Given the description of an element on the screen output the (x, y) to click on. 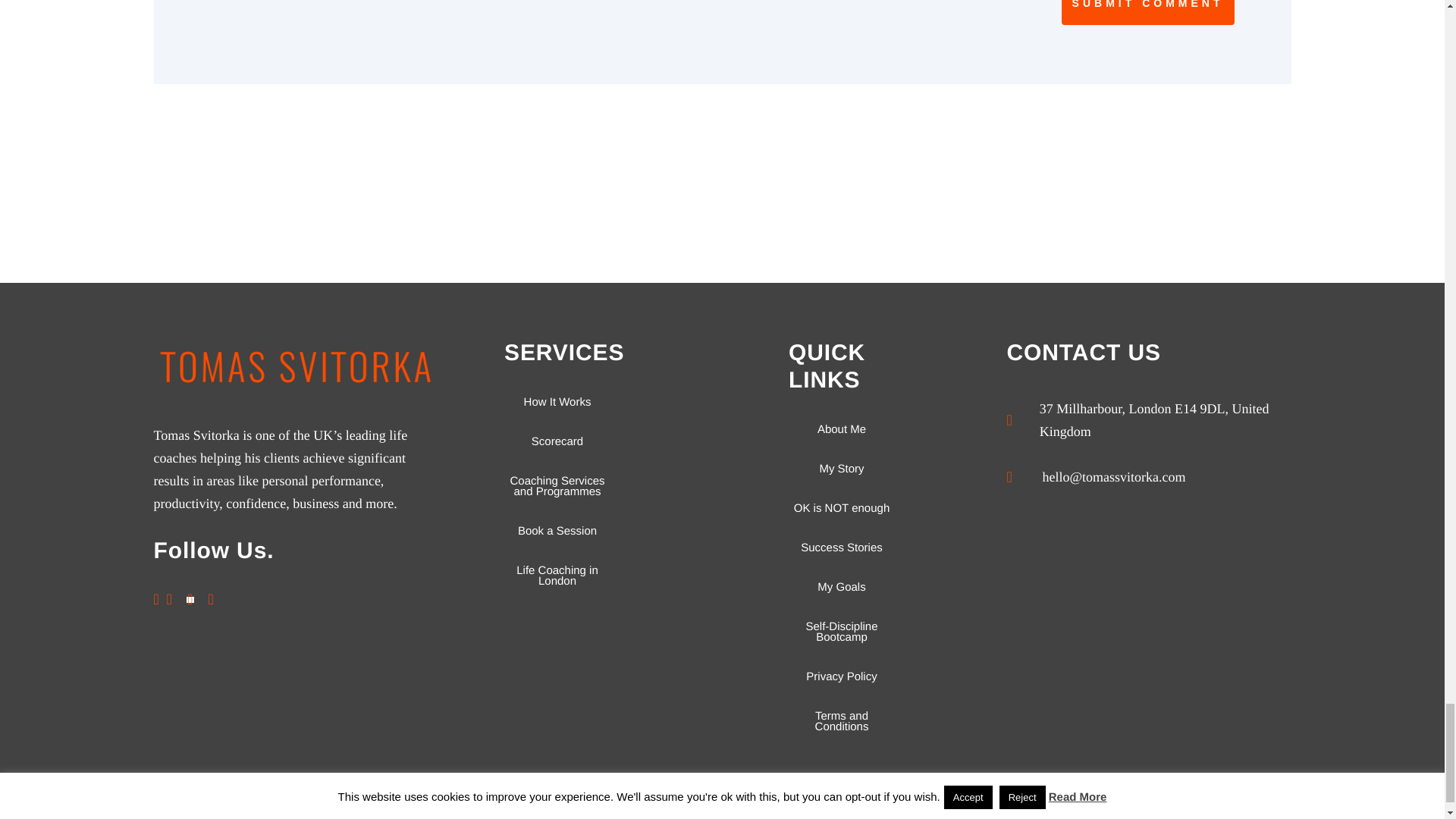
Tomas Svitorka London Life Coach Logo (295, 366)
